Given the description of an element on the screen output the (x, y) to click on. 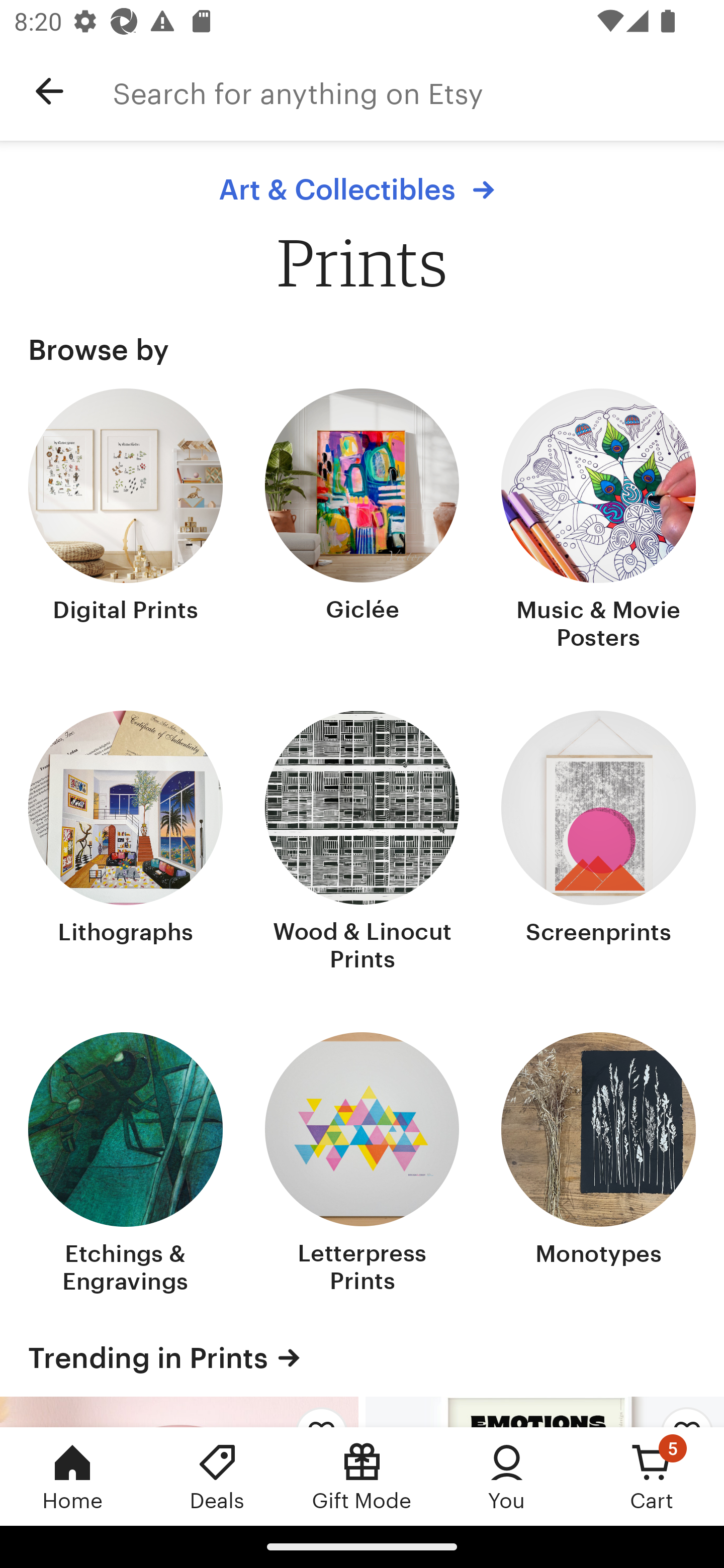
Navigate up (49, 91)
Search for anything on Etsy (418, 91)
Art & Collectibles (361, 189)
Digital Prints (125, 520)
Giclée (361, 520)
Music & Movie Posters (598, 520)
Lithographs (125, 842)
Wood & Linocut Prints (361, 842)
Screenprints (598, 842)
Etchings & Engravings (125, 1164)
Letterpress Prints (361, 1164)
Monotypes (598, 1164)
Trending in Prints  (361, 1357)
Deals (216, 1475)
Gift Mode (361, 1475)
You (506, 1475)
Cart, 5 new notifications Cart (651, 1475)
